Given the description of an element on the screen output the (x, y) to click on. 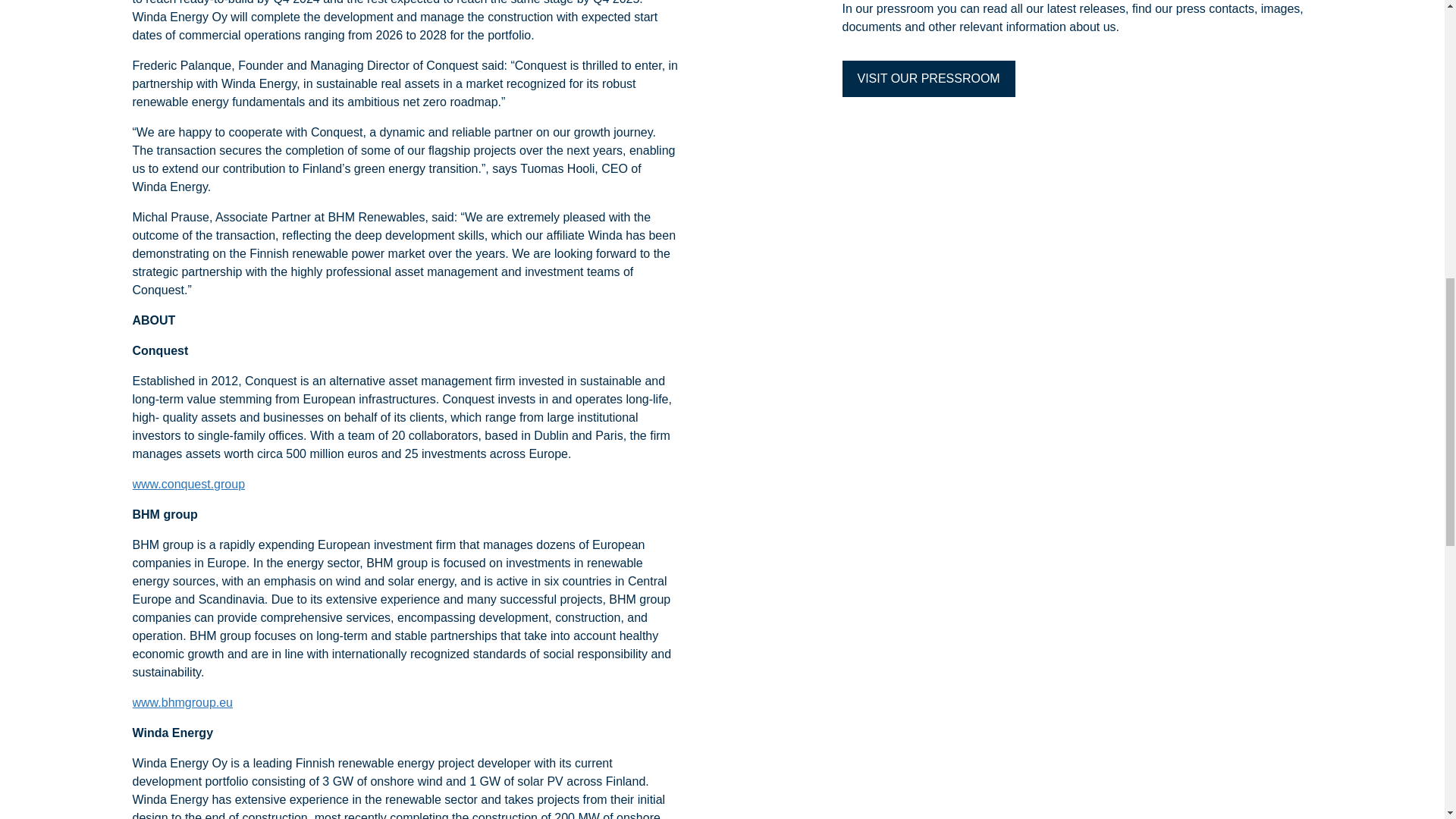
www.bhmgroup.eu (182, 702)
VISIT OUR PRESSROOM (927, 78)
www.conquest.group (188, 484)
